Given the description of an element on the screen output the (x, y) to click on. 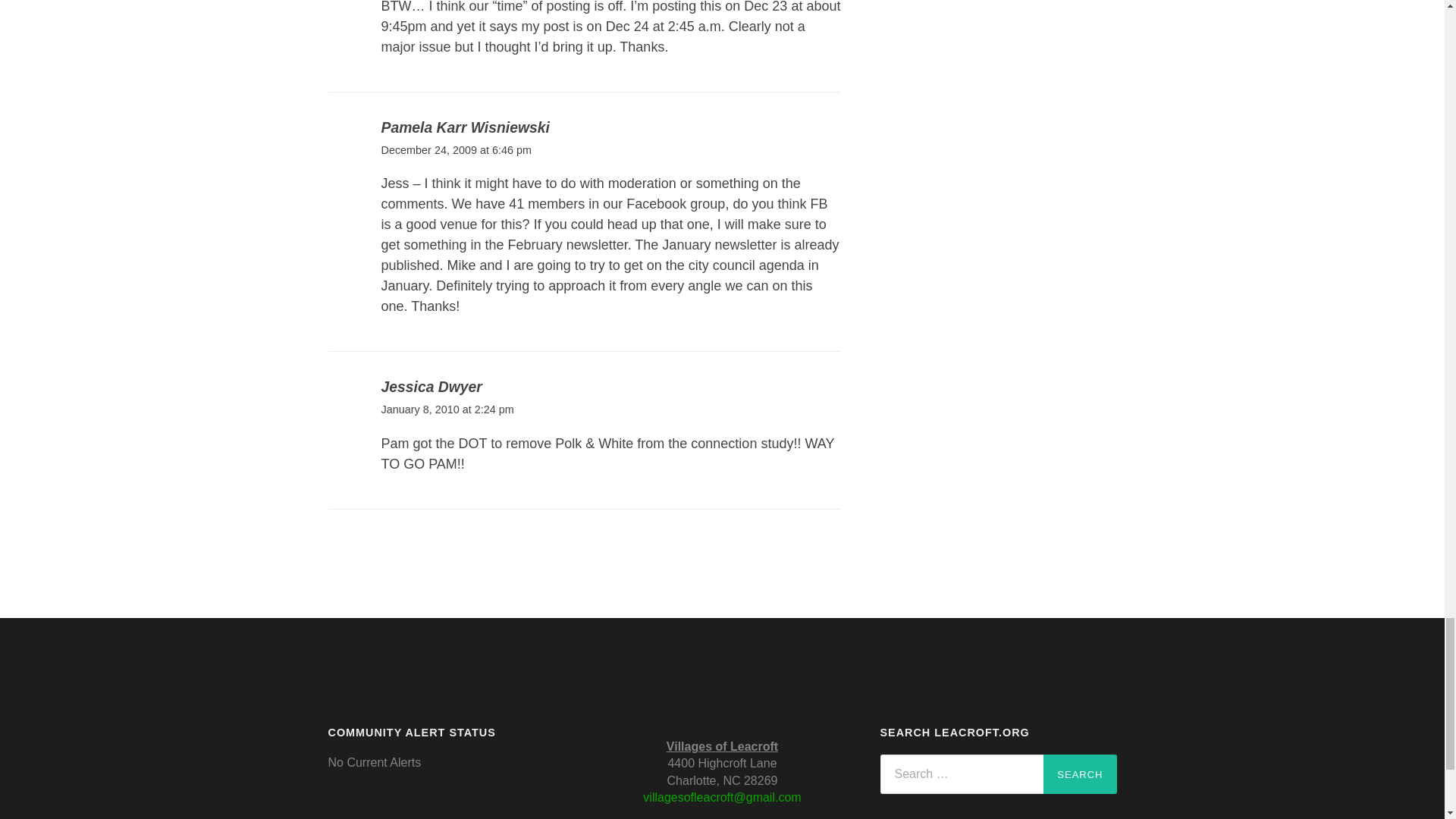
Search (1079, 773)
January 8, 2010 at 2:24 pm (446, 409)
Search (1079, 773)
December 24, 2009 at 6:46 pm (455, 150)
